Given the description of an element on the screen output the (x, y) to click on. 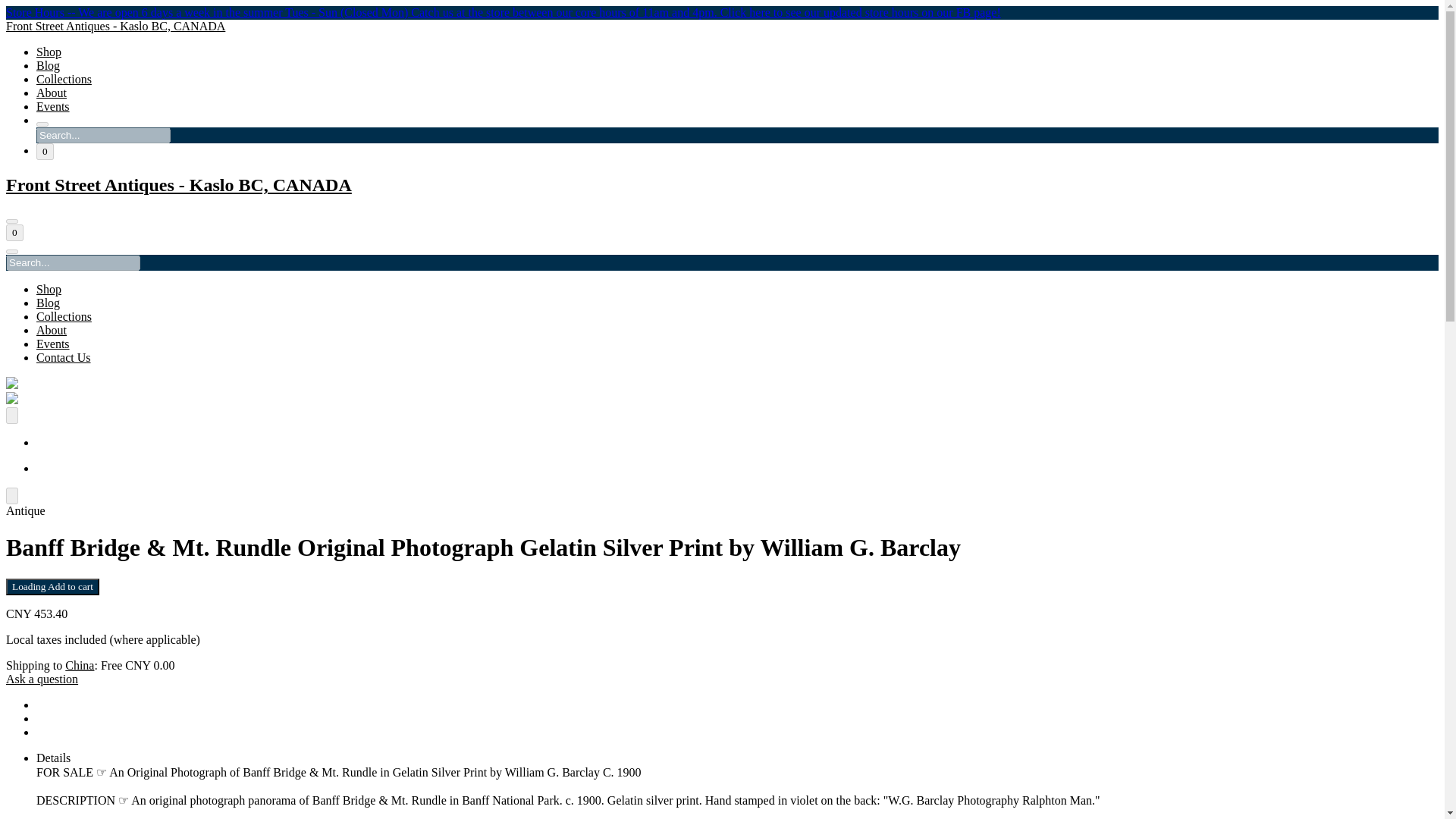
Ask a question (41, 678)
Shop (48, 51)
0 (44, 151)
Contact Us (63, 357)
Shop (48, 288)
0 (14, 232)
Loading Add to cart (52, 586)
About (51, 92)
Events (52, 343)
Blog (47, 65)
Collections (63, 78)
China (79, 665)
Events (52, 106)
Collections (63, 316)
About (51, 329)
